Given the description of an element on the screen output the (x, y) to click on. 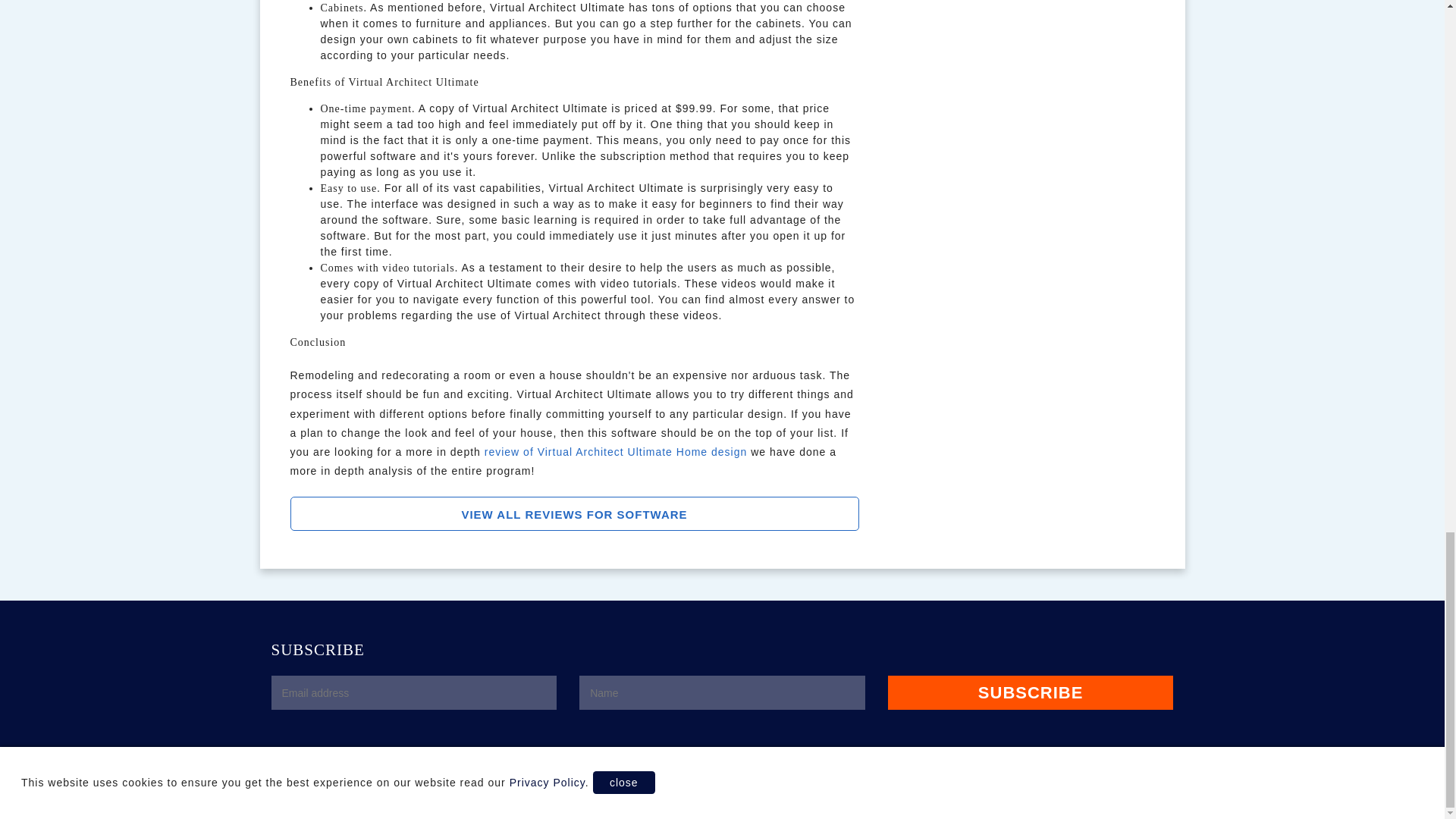
review of Virtual Architect Ultimate Home design (616, 451)
VIEW ALL REVIEWS FOR SOFTWARE (574, 513)
Subscribe (1030, 692)
